Given the description of an element on the screen output the (x, y) to click on. 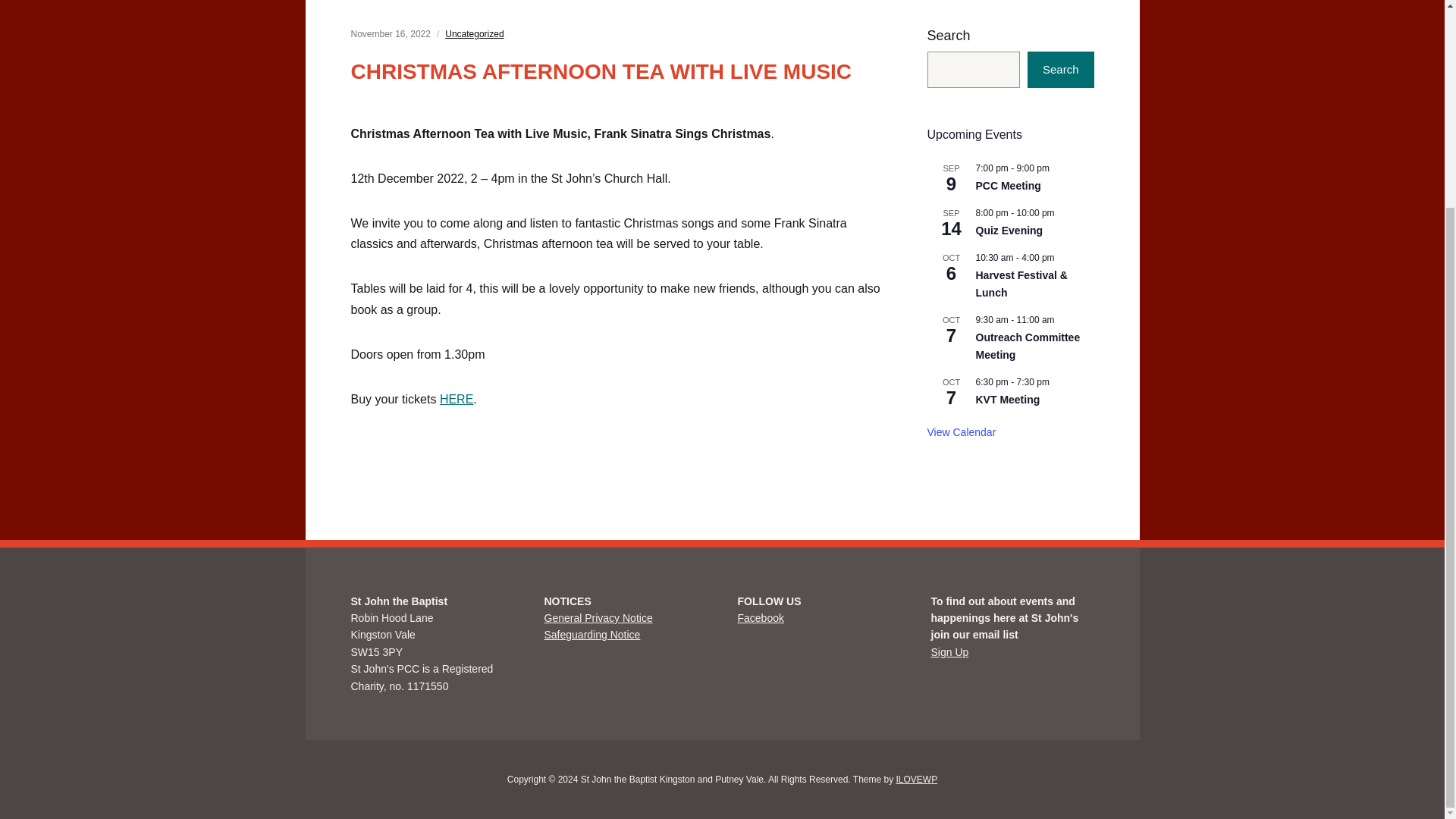
View more events. (960, 431)
KVT Meeting (1007, 399)
Quiz Evening (1008, 230)
Outreach Committee Meeting (1027, 346)
PCC Meeting (1008, 185)
